Given the description of an element on the screen output the (x, y) to click on. 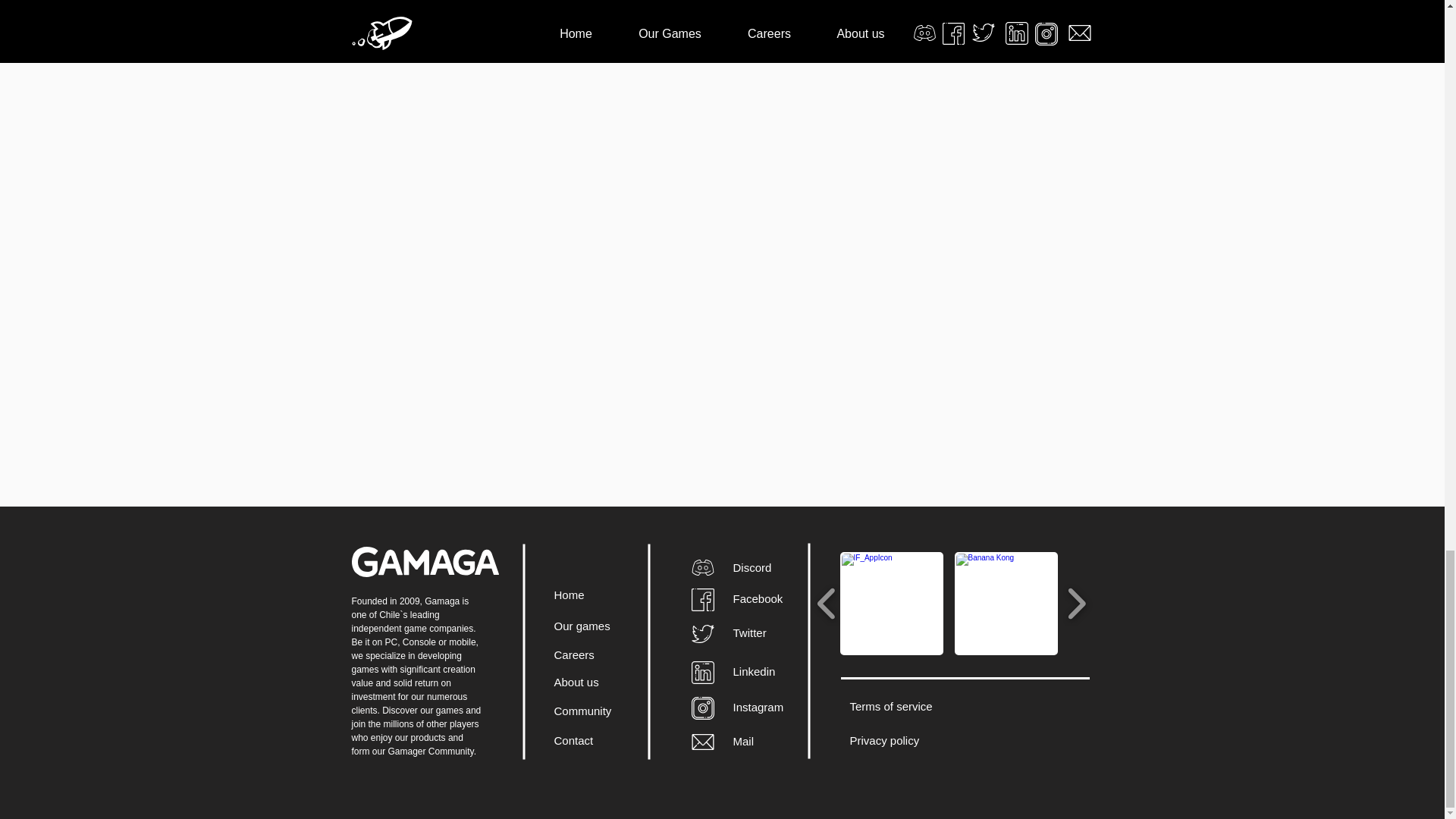
Discord (751, 567)
Facebook (757, 598)
Twitter (748, 632)
Mail (743, 740)
Linkedin (753, 671)
Instagram (757, 707)
Home (568, 594)
